Given the description of an element on the screen output the (x, y) to click on. 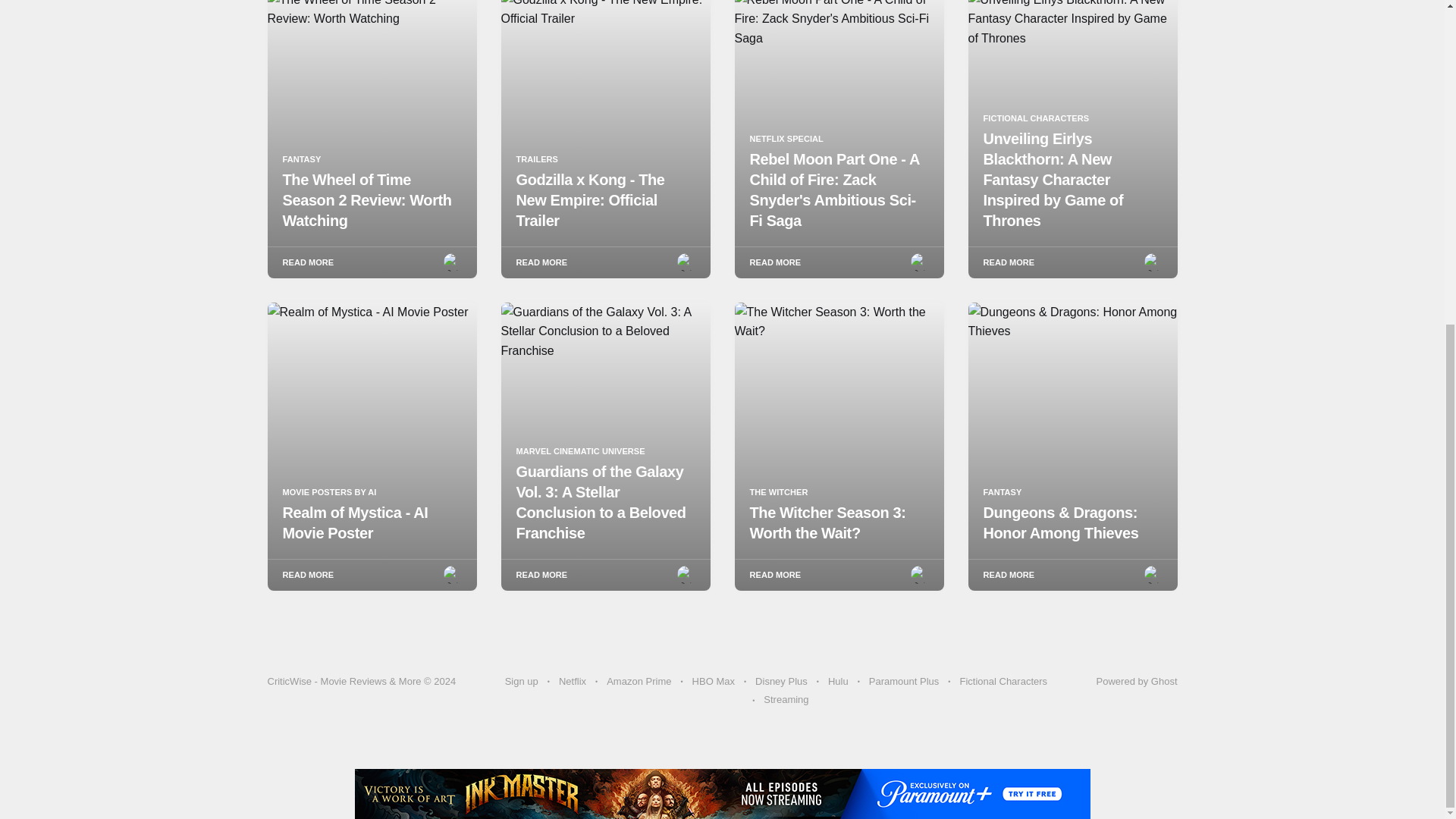
Hulu (838, 682)
Disney Plus (781, 682)
Streaming (785, 700)
Fictional Characters (1002, 682)
HBO Max (714, 682)
Amazon Prime (639, 682)
Netflix (572, 682)
Sign up (521, 682)
Paramount Plus (904, 682)
Powered by Ghost (1136, 681)
